Given the description of an element on the screen output the (x, y) to click on. 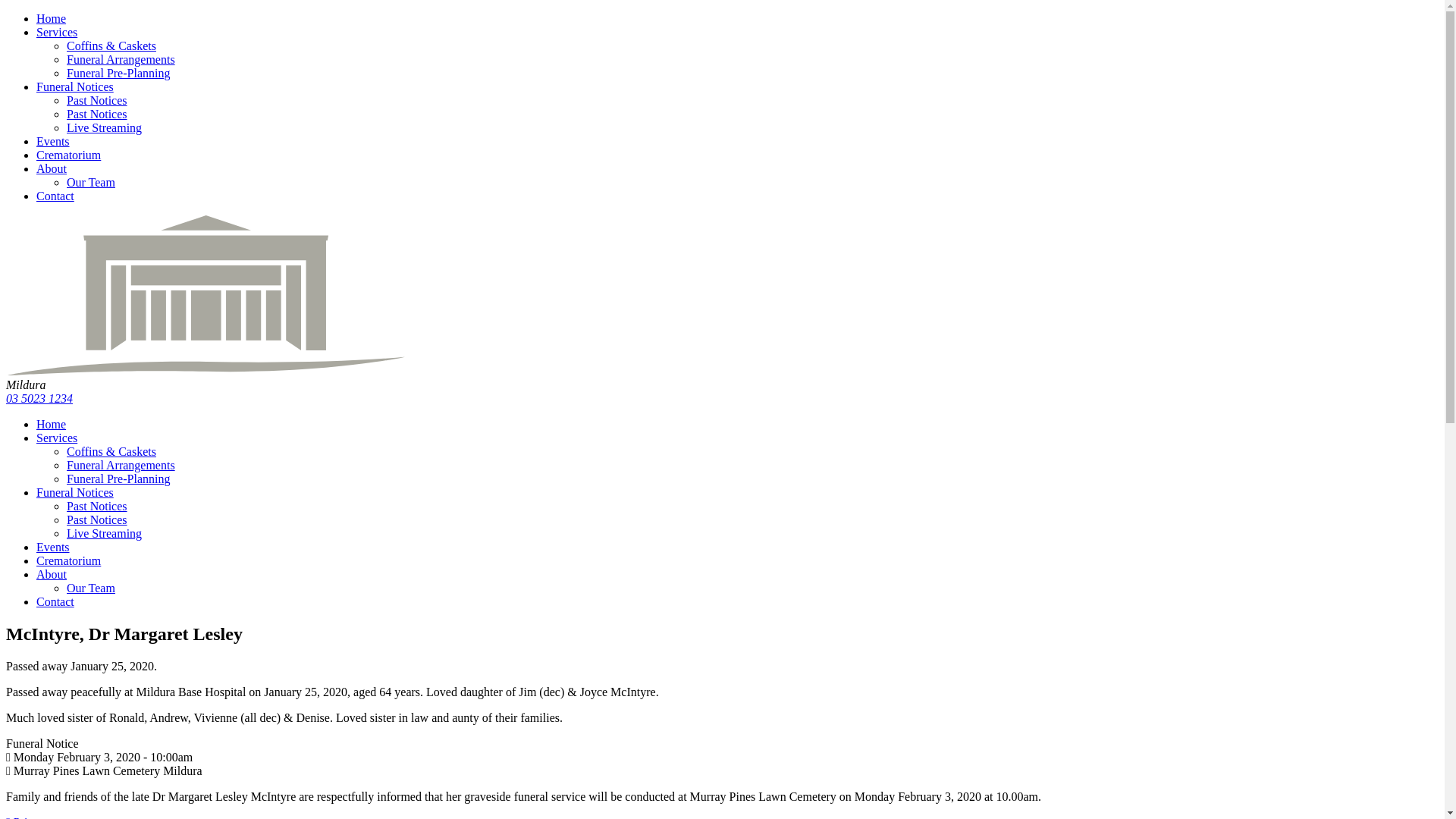
Funeral Pre-Planning Element type: text (117, 478)
About Element type: text (51, 168)
Funeral Notices Element type: text (74, 86)
Services Element type: text (56, 437)
Services Element type: text (56, 31)
Events Element type: text (52, 140)
Coffins & Caskets Element type: text (111, 451)
Funeral Pre-Planning Element type: text (117, 72)
Live Streaming Element type: text (103, 533)
Past Notices Element type: text (96, 113)
Coffins & Caskets Element type: text (111, 45)
Past Notices Element type: text (96, 519)
Our Team Element type: text (90, 181)
03 5023 1234 Element type: text (39, 398)
Live Streaming Element type: text (103, 127)
Contact Element type: text (55, 601)
About Element type: text (51, 573)
Our Team Element type: text (90, 587)
Crematorium Element type: text (68, 154)
Funeral Arrangements Element type: text (120, 59)
Home Element type: text (50, 18)
Events Element type: text (52, 546)
Past Notices Element type: text (96, 505)
Past Notices Element type: text (96, 100)
Crematorium Element type: text (68, 560)
Contact Element type: text (55, 195)
Funeral Notices Element type: text (74, 492)
Funeral Arrangements Element type: text (120, 464)
Home Element type: text (50, 423)
